Given the description of an element on the screen output the (x, y) to click on. 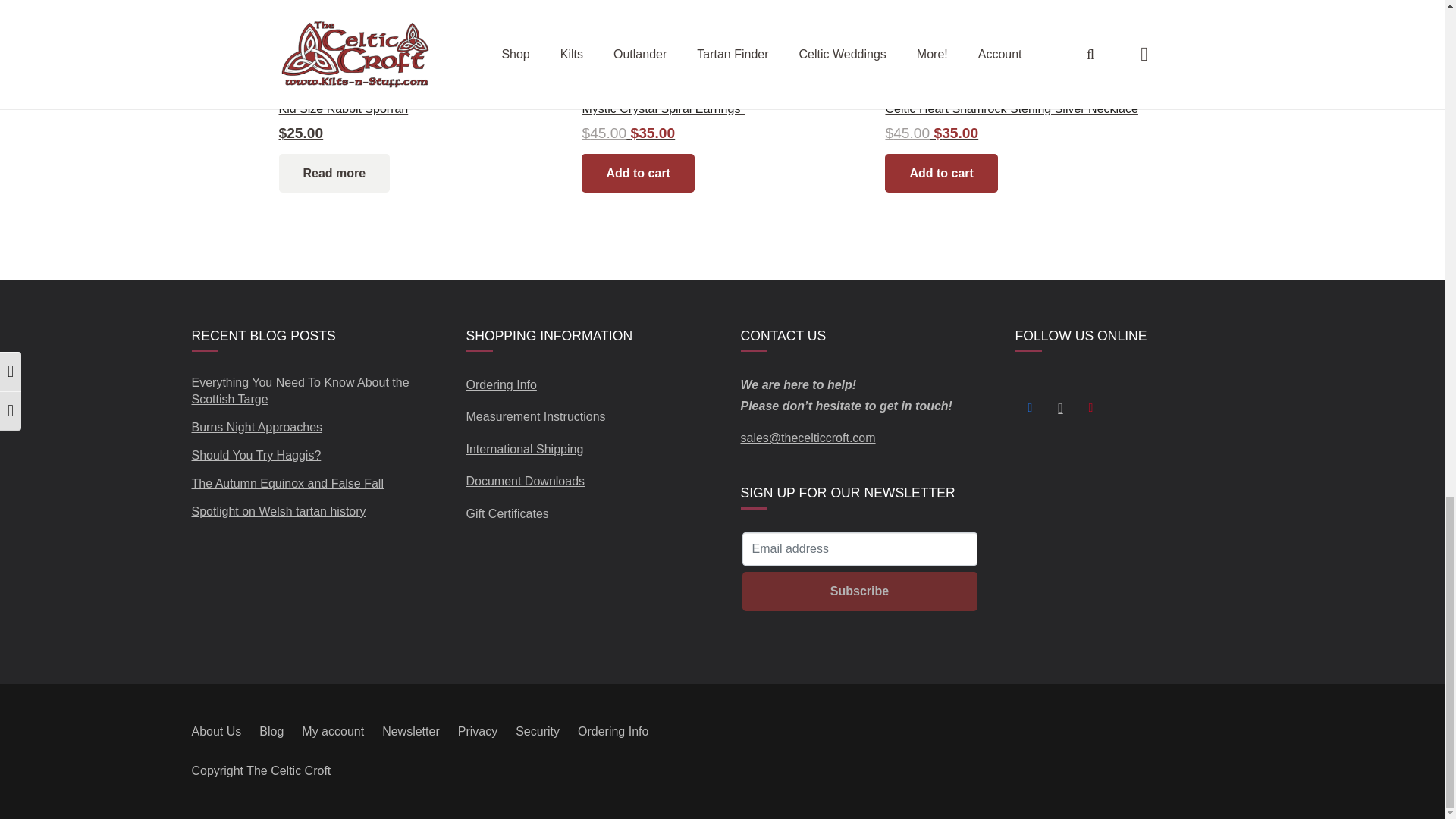
Subscribe (858, 590)
